Given the description of an element on the screen output the (x, y) to click on. 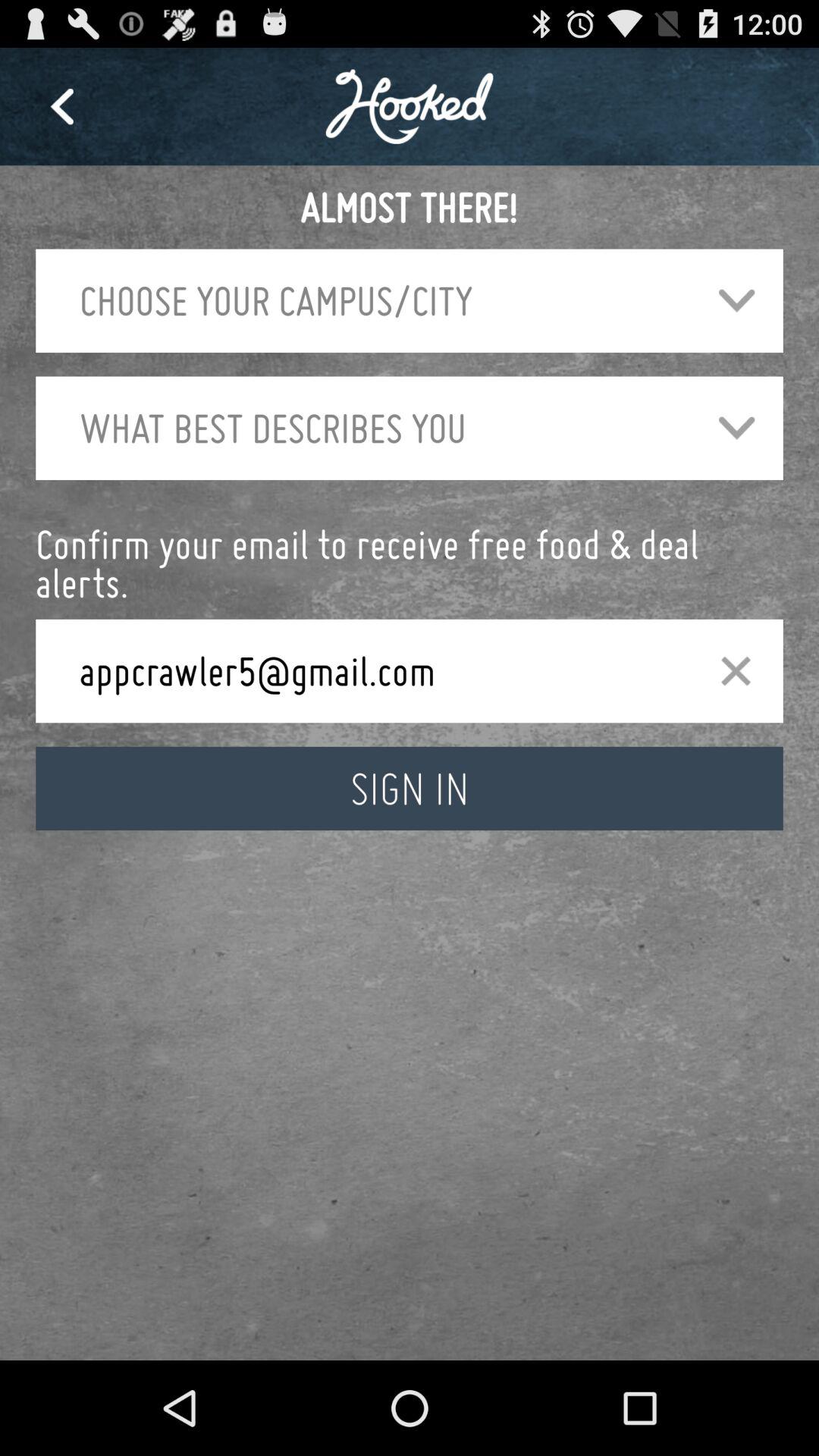
open item above the sign in (374, 670)
